Given the description of an element on the screen output the (x, y) to click on. 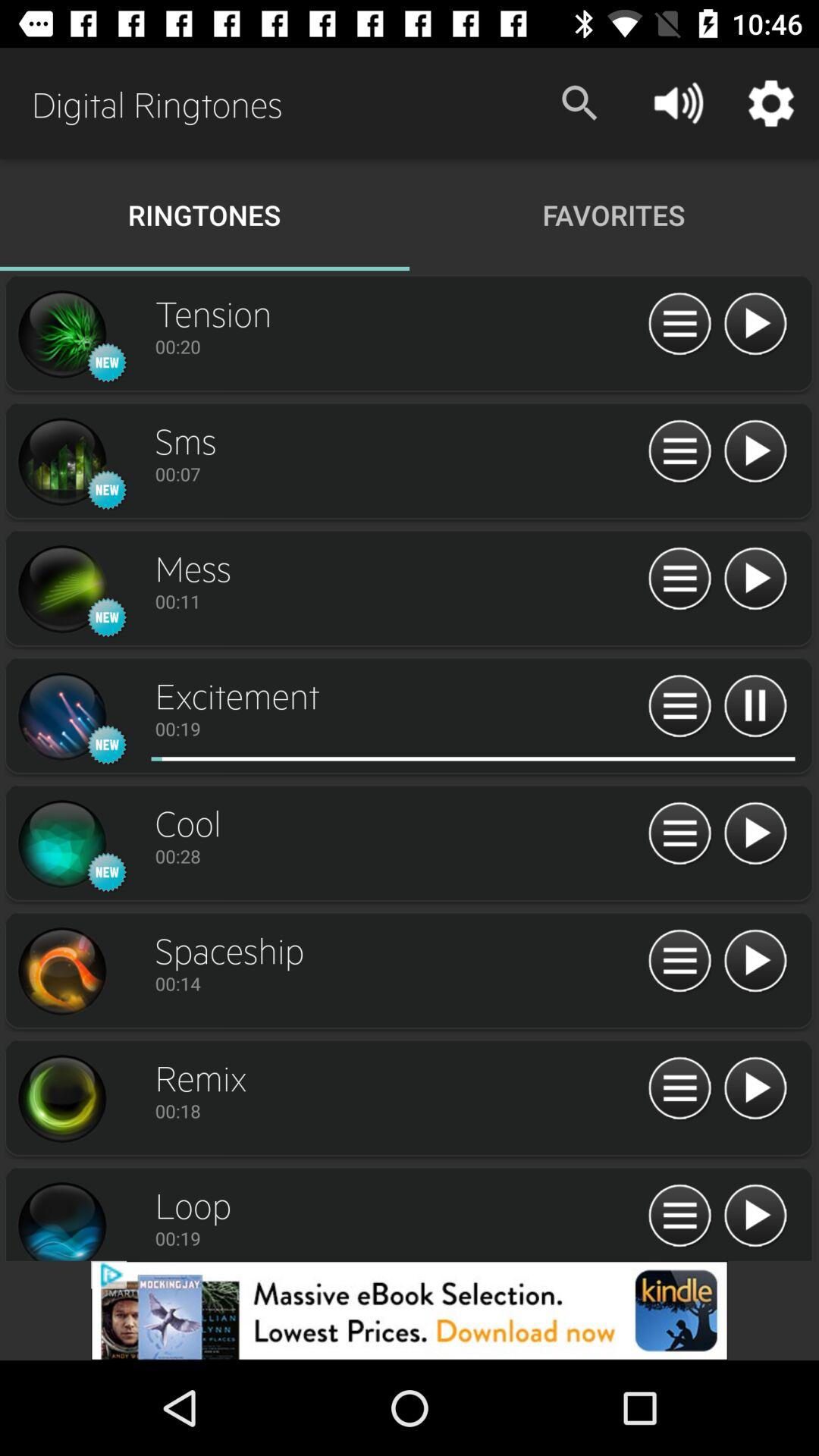
open menu (679, 1088)
